Given the description of an element on the screen output the (x, y) to click on. 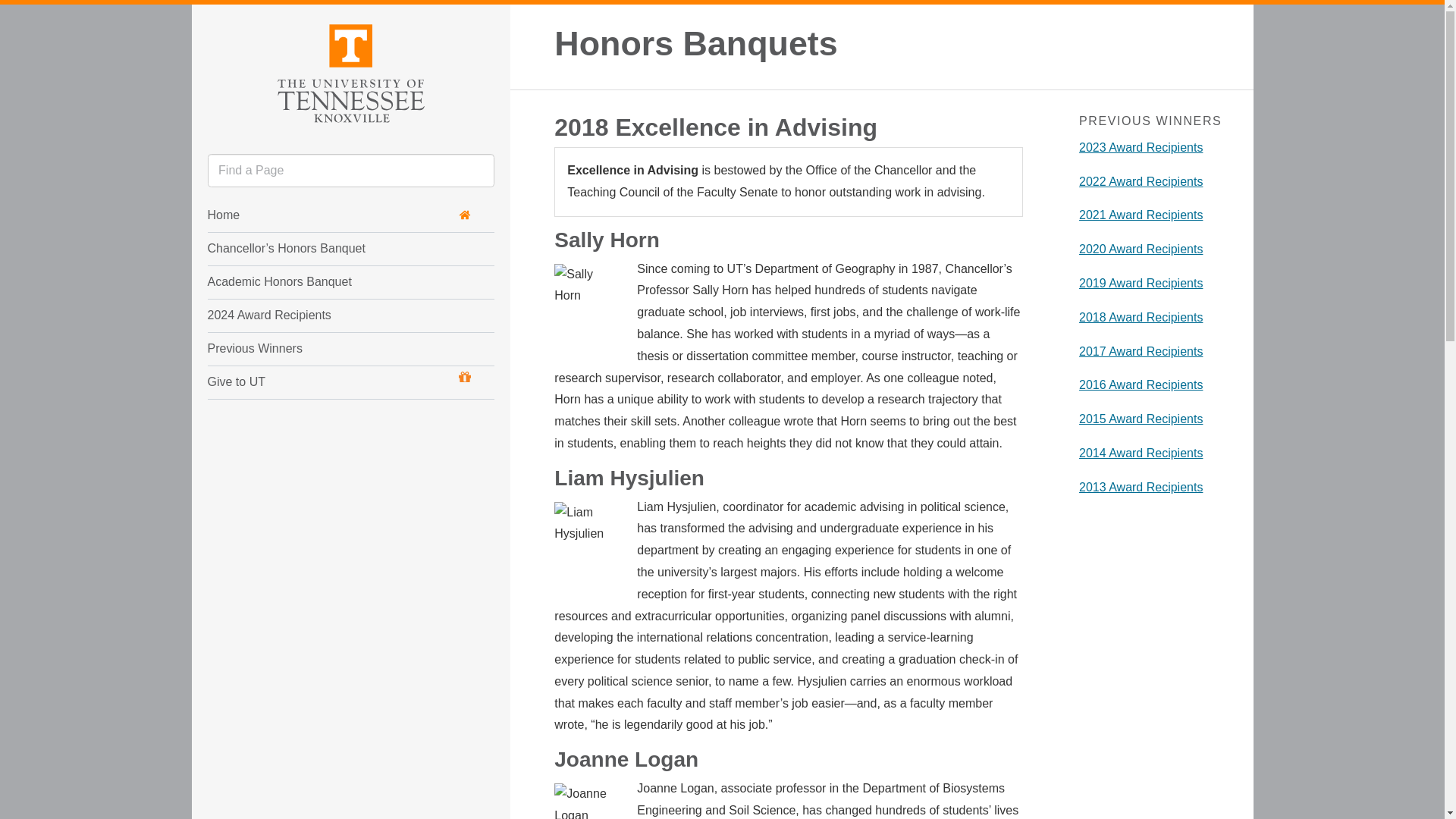
Honors Banquets (695, 43)
Honors Banquets (695, 43)
2016 Award Recipients (1140, 384)
2015 Award Recipients (1140, 418)
2022 Award Recipients (1140, 181)
2024 Award Recipients (322, 315)
2013 Award Recipients (1140, 486)
Home (339, 215)
Previous Winners (322, 348)
